Given the description of an element on the screen output the (x, y) to click on. 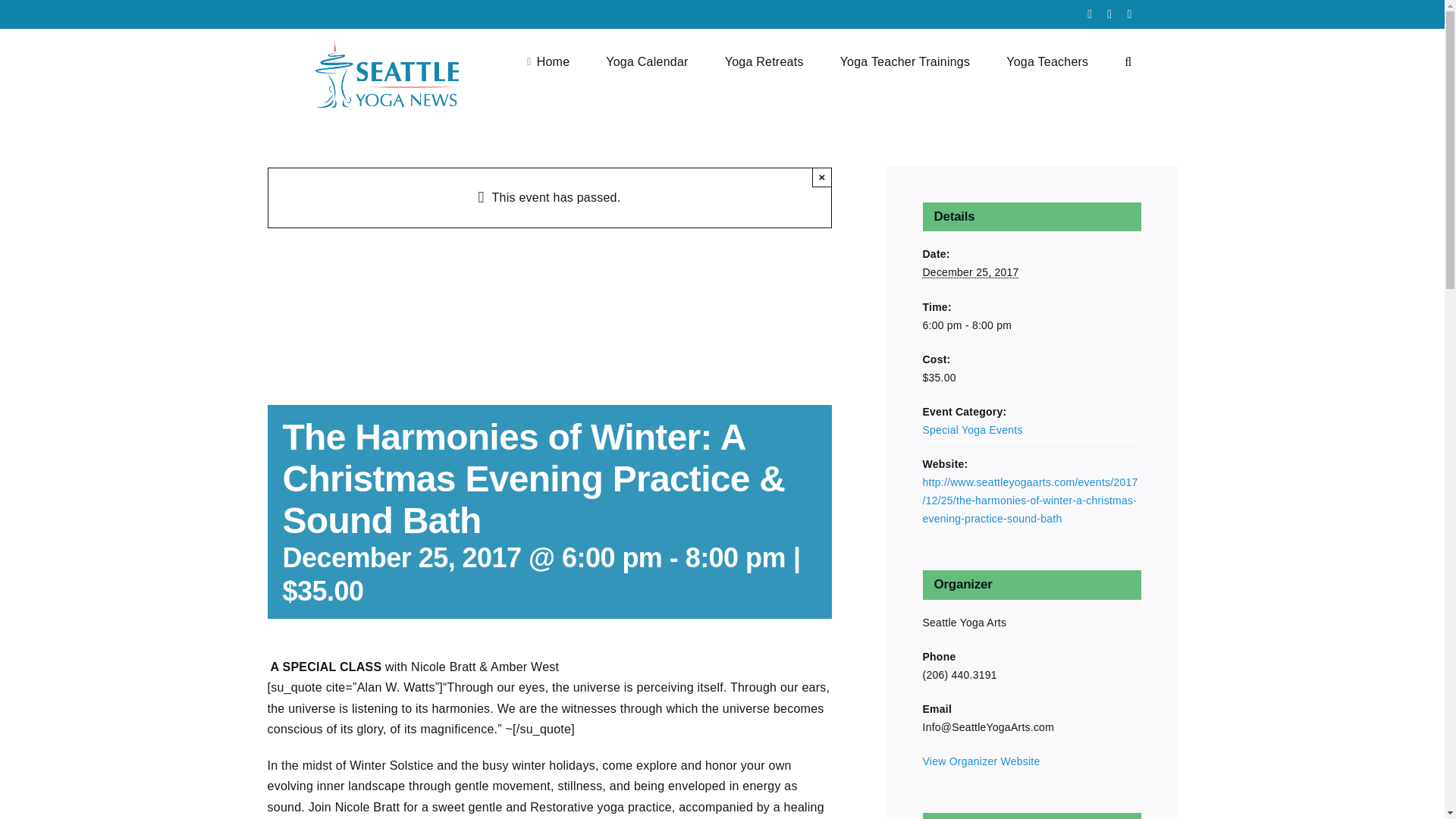
Yoga Teacher Trainings (905, 60)
Yoga Retreats (764, 60)
View Organizer Website (980, 761)
Yoga Teacher Trainings (905, 60)
Yoga Teachers (1046, 60)
Special Yoga Events (971, 429)
Yoga Calendar (646, 60)
2017-12-25 (969, 272)
Yoga Retreats (764, 60)
2017-12-25 (1030, 325)
